Given the description of an element on the screen output the (x, y) to click on. 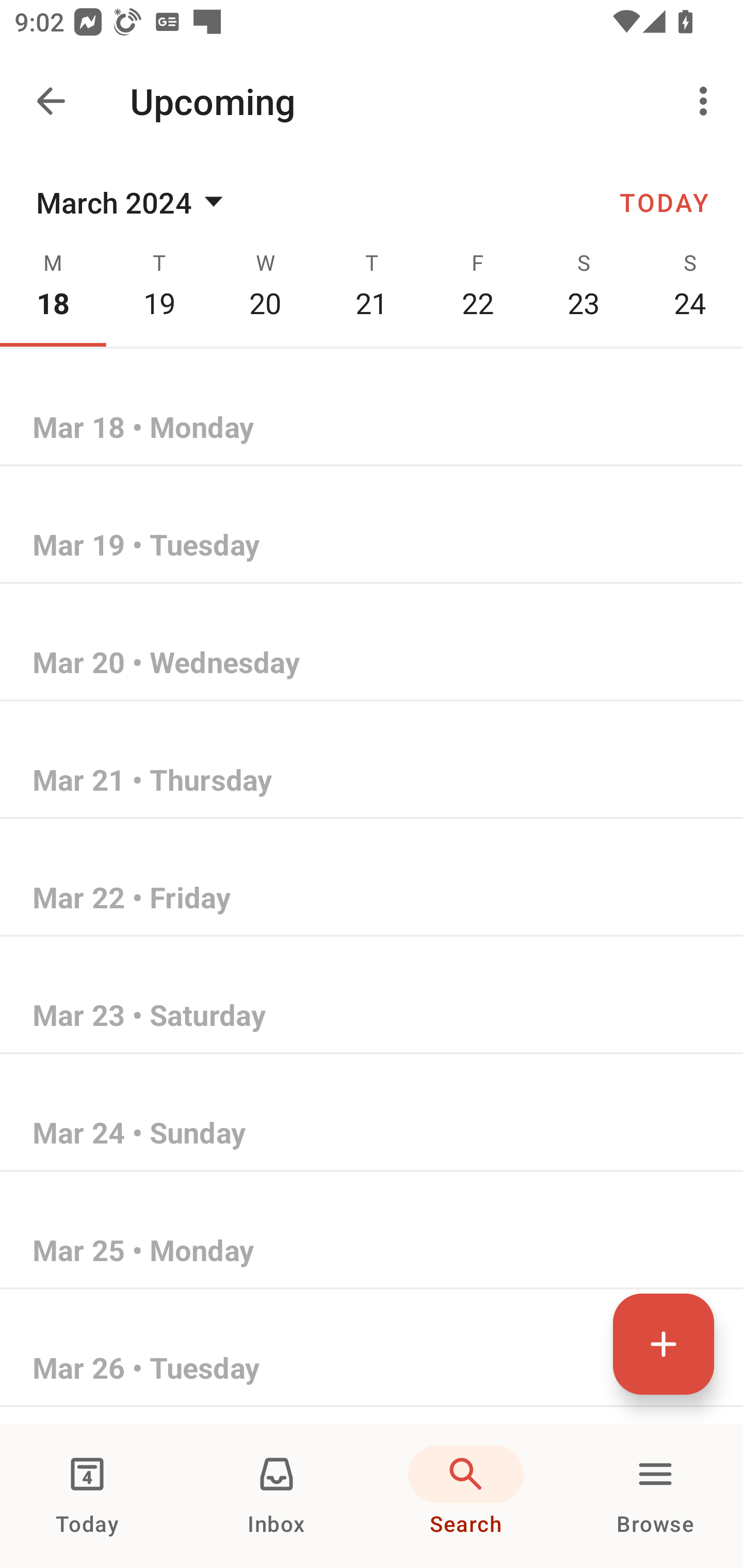
Navigate up Upcoming More options (371, 100)
Navigate up (50, 101)
More options (706, 101)
March 2024 (133, 202)
TODAY (663, 202)
Mar 17 • Sunday (371, 310)
Mar 18 • Monday (371, 428)
Mar 19 • Tuesday (371, 545)
Mar 20 • Wednesday (371, 663)
Mar 21 • Thursday (371, 780)
Mar 22 • Friday (371, 898)
Mar 23 • Saturday (371, 1016)
Mar 24 • Sunday (371, 1133)
Mar 25 • Monday (371, 1251)
Quick add (663, 1343)
Mar 26 • Tuesday (371, 1368)
Today (87, 1495)
Inbox (276, 1495)
Browse (655, 1495)
